Given the description of an element on the screen output the (x, y) to click on. 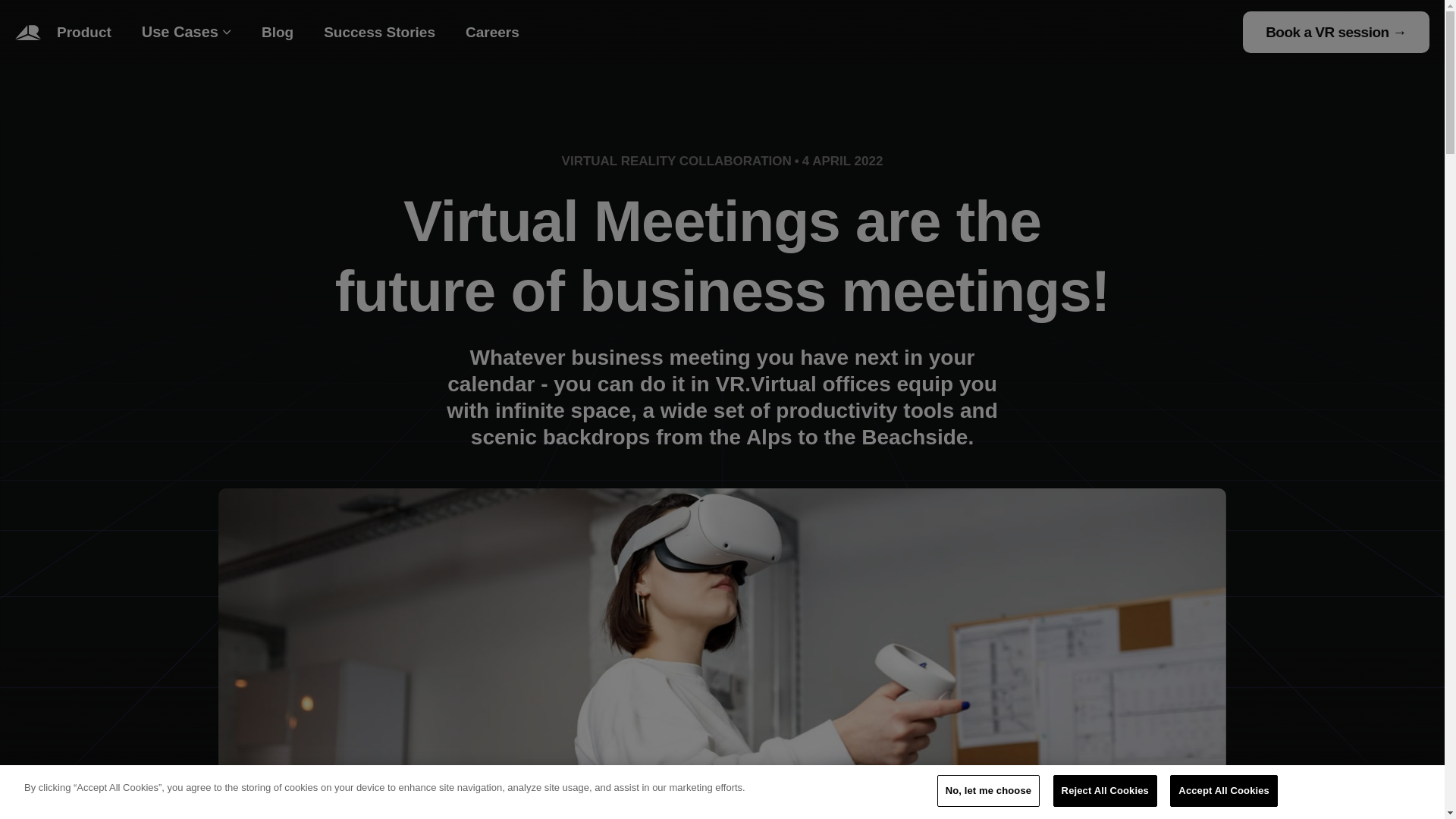
Success Stories (378, 31)
Product (84, 31)
Careers (491, 31)
Blog (277, 31)
